Given the description of an element on the screen output the (x, y) to click on. 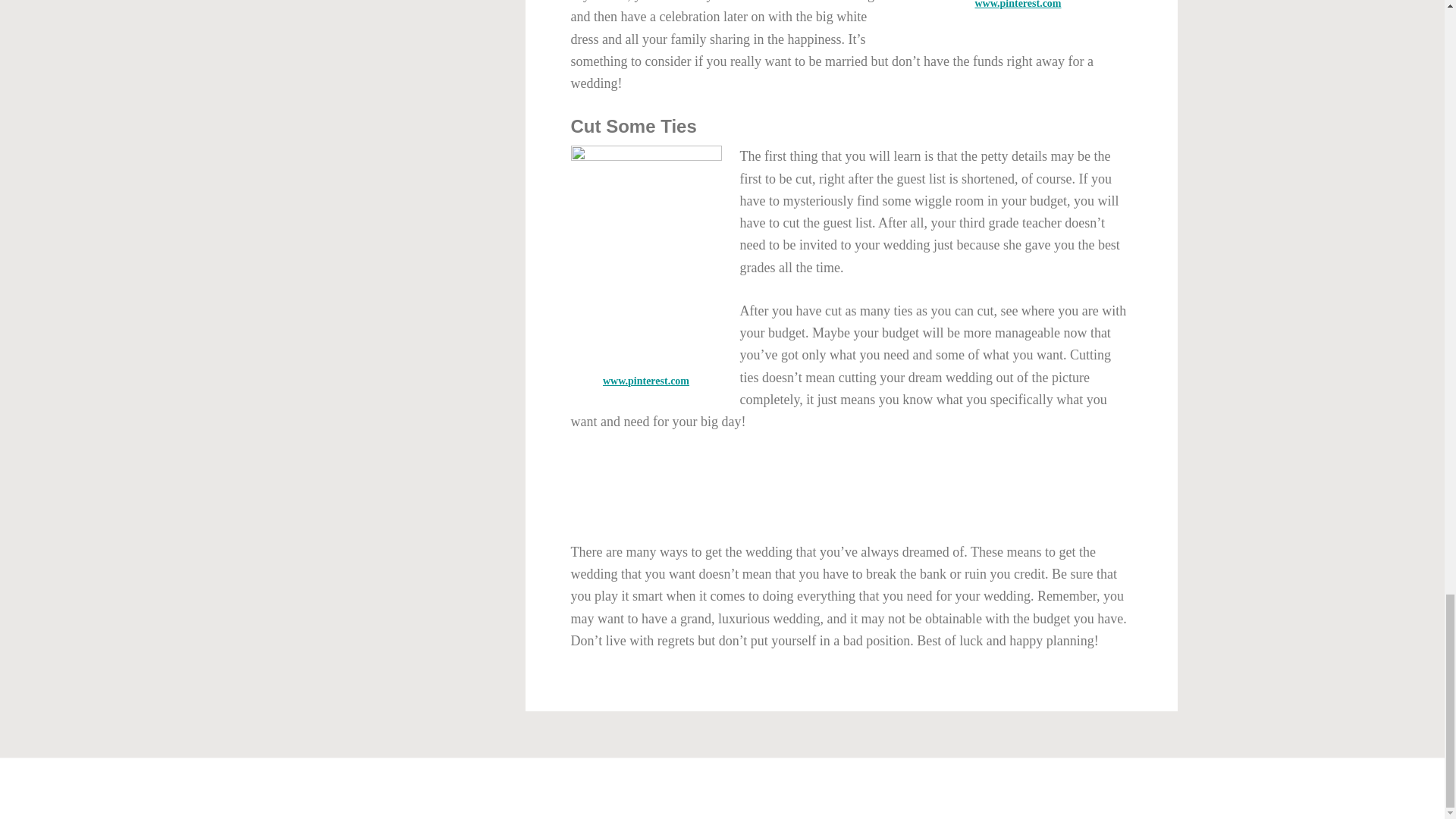
www.pinterest.com (645, 380)
www.pinterest.com (1017, 4)
